Given the description of an element on the screen output the (x, y) to click on. 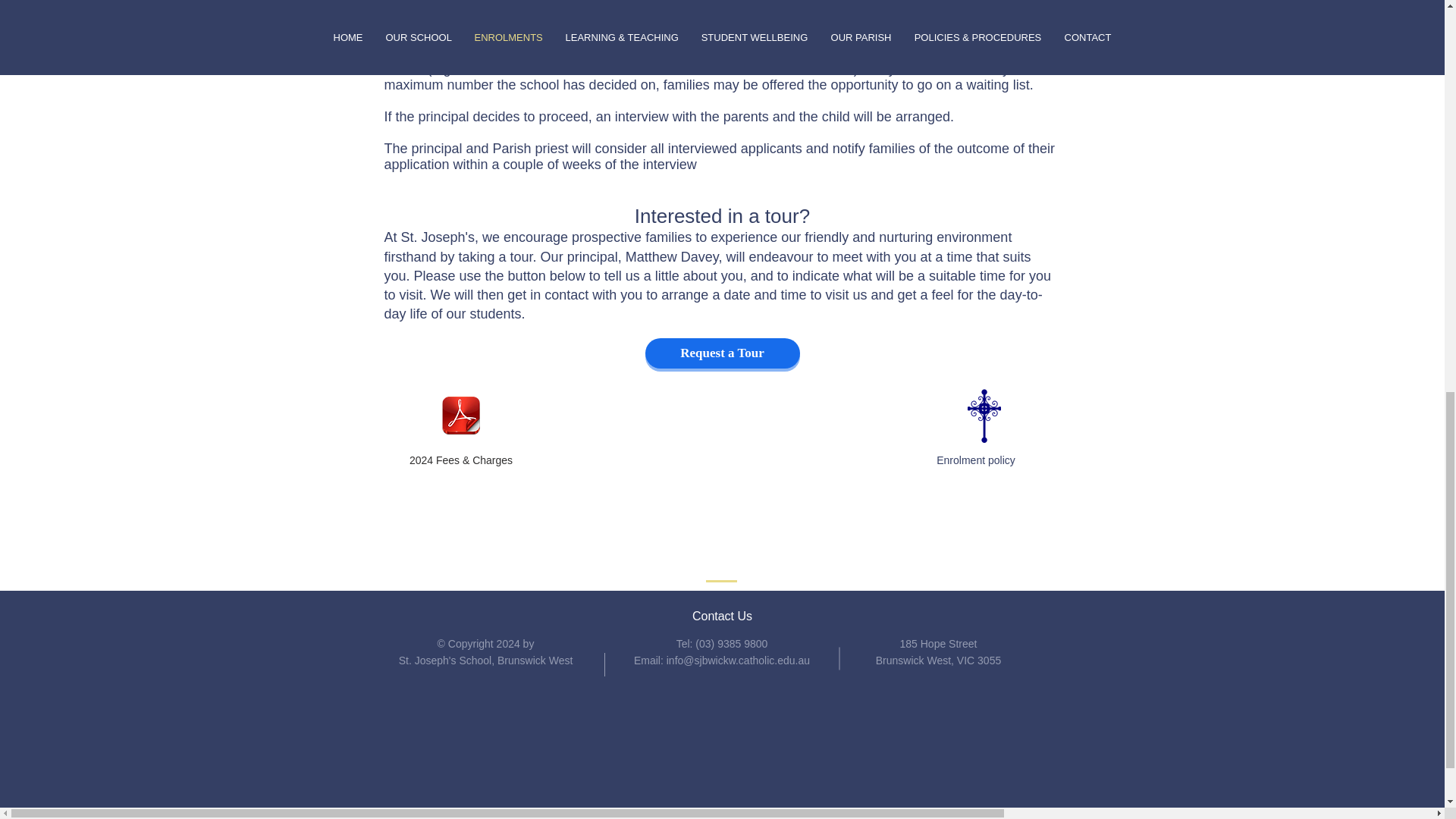
Enrolment policy (975, 460)
185 Hope Street (937, 644)
Request a Tour (722, 353)
Brunswick West, VIC 3055 (938, 660)
